Given the description of an element on the screen output the (x, y) to click on. 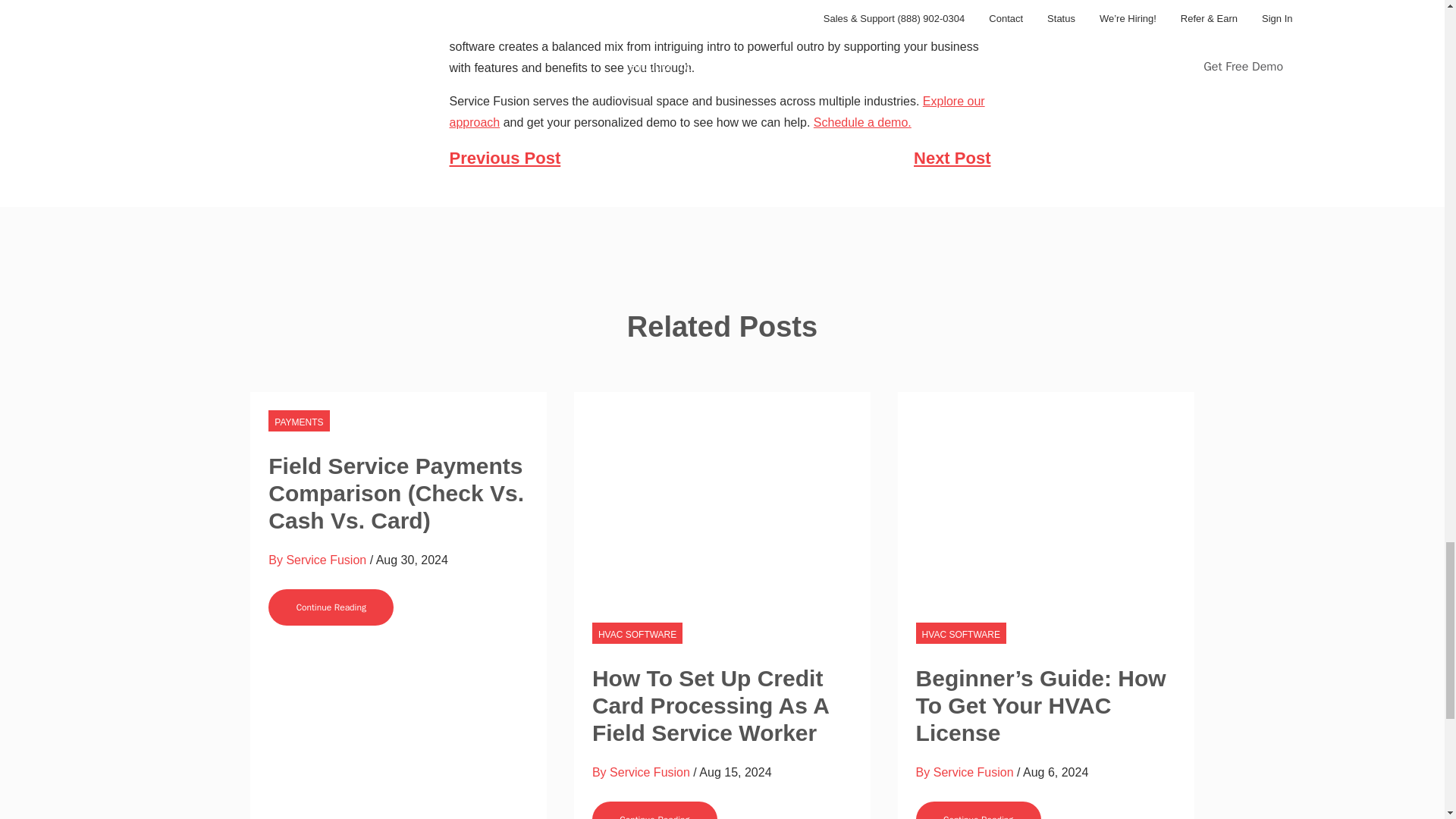
HVAC Software (637, 632)
HVAC Software (960, 632)
Payments (298, 420)
